Given the description of an element on the screen output the (x, y) to click on. 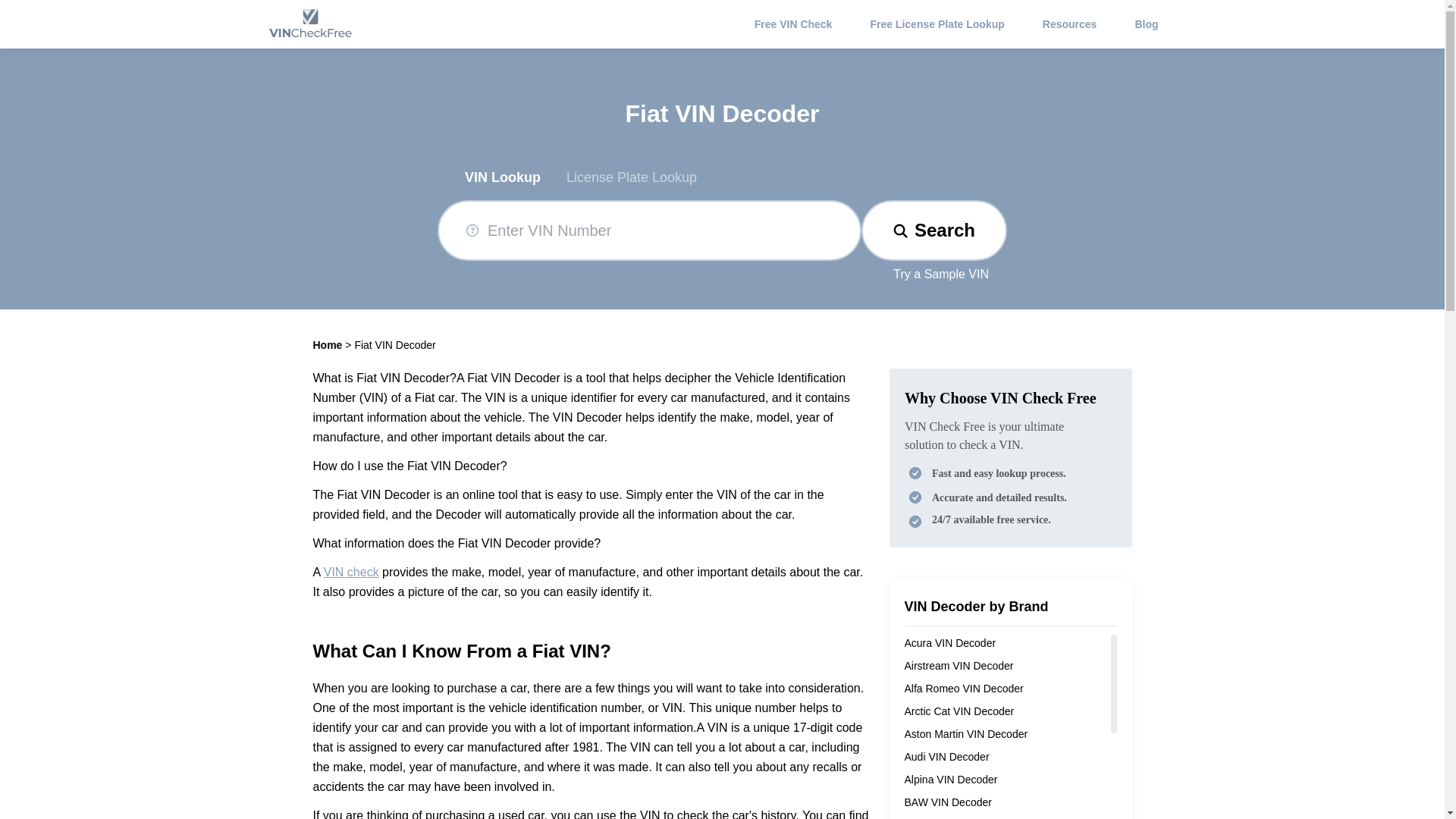
Alpina VIN Decoder (950, 779)
Aston Martin VIN Decoder (965, 734)
Search (934, 230)
Home (327, 345)
BAW VIN Decoder (947, 802)
Audi VIN Decoder (946, 756)
Acura VIN Decoder (949, 643)
Free VIN Check (793, 24)
VIN Lookup (502, 177)
Arctic Cat VIN Decoder (958, 711)
Alfa Romeo VIN Decoder (963, 688)
VIN check (350, 571)
Fiat VIN Decoder (394, 345)
Resources (1069, 24)
